Given the description of an element on the screen output the (x, y) to click on. 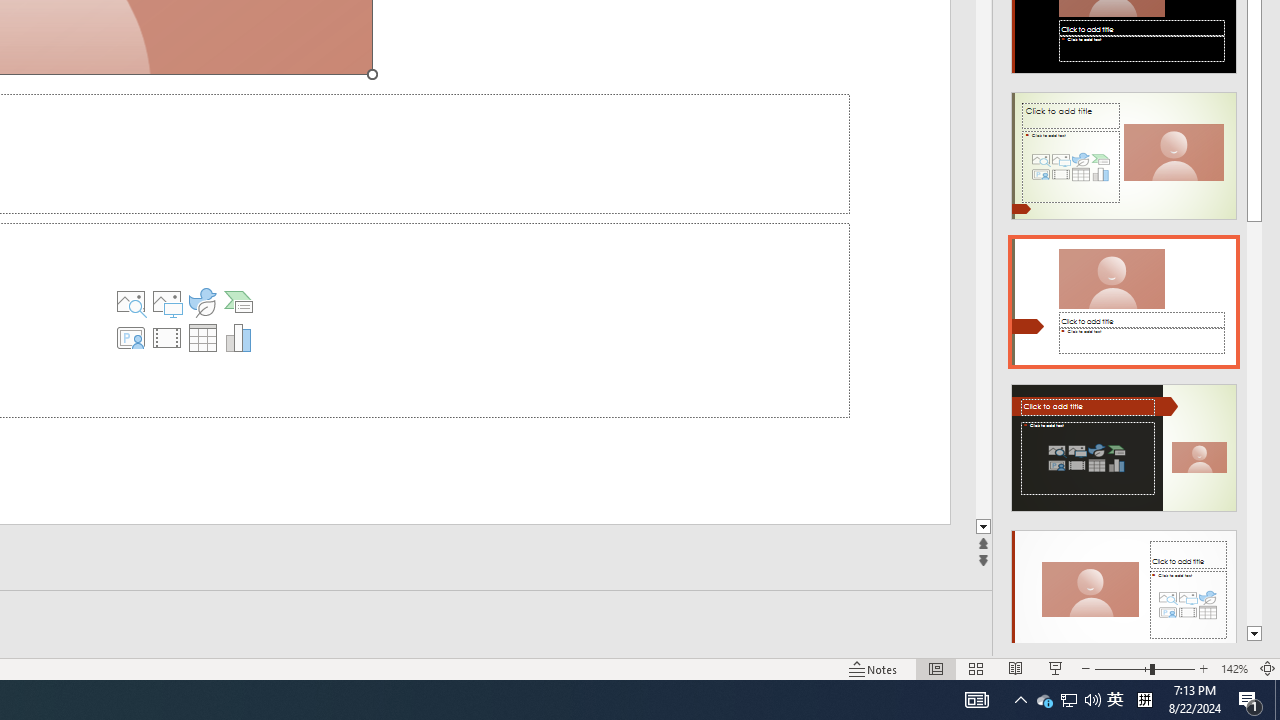
Insert Table (202, 337)
Insert Chart (238, 337)
Insert Cameo (131, 337)
Insert an Icon (202, 301)
